Given the description of an element on the screen output the (x, y) to click on. 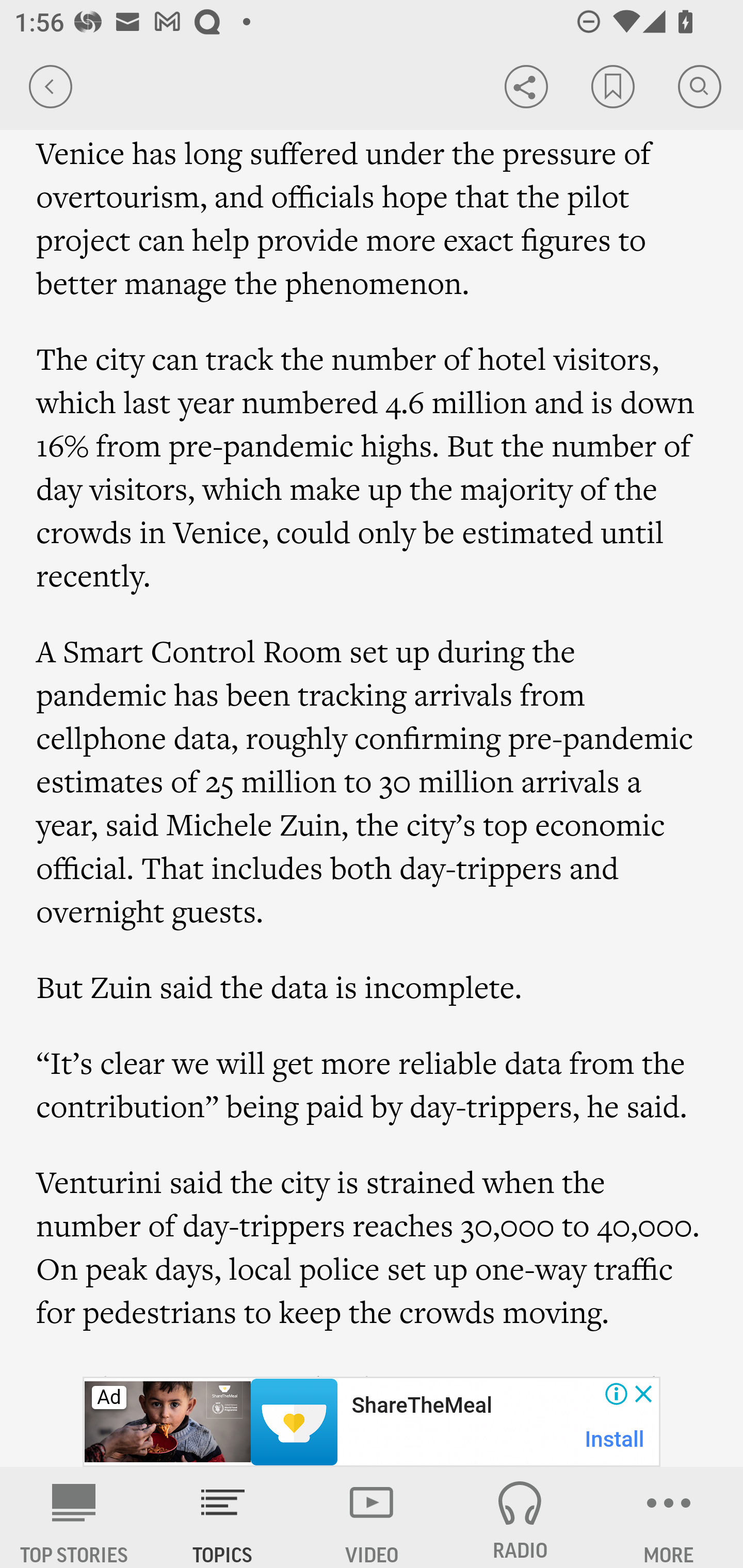
ShareTheMeal (420, 1405)
Install (614, 1438)
AP News TOP STORIES (74, 1517)
TOPICS (222, 1517)
VIDEO (371, 1517)
RADIO (519, 1517)
MORE (668, 1517)
